Given the description of an element on the screen output the (x, y) to click on. 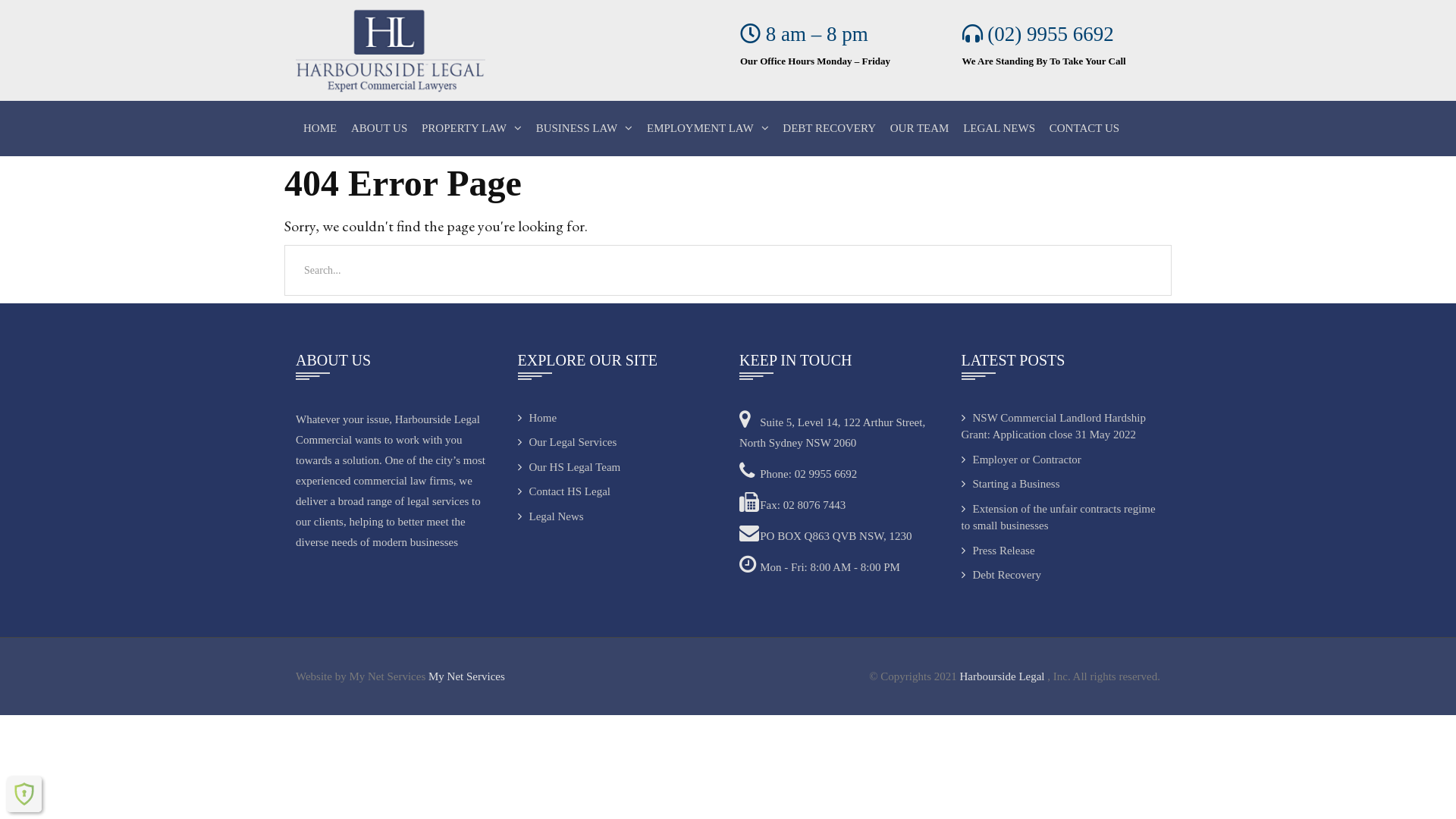
Search for: Element type: hover (727, 269)
HOME Element type: text (319, 128)
Legal News Element type: text (550, 515)
My Net Services Element type: text (466, 676)
CONTACT US Element type: text (1083, 128)
Home Element type: text (536, 417)
Harbourside Legal Element type: text (1003, 676)
ABOUT US Element type: text (378, 128)
Extension of the unfair contracts regime to small businesses Element type: text (1058, 516)
Debt Recovery Element type: text (1001, 574)
PROPERTY LAW Element type: text (471, 128)
Search Element type: text (36, 20)
DEBT RECOVERY Element type: text (829, 128)
BUSINESS LAW Element type: text (584, 128)
Employer or Contractor Element type: text (1021, 459)
LEGAL NEWS Element type: text (998, 128)
Shield Security Element type: hover (24, 793)
Our HS Legal Team Element type: text (568, 467)
OUR TEAM Element type: text (919, 128)
Our Legal Services Element type: text (566, 442)
Contact HS Legal Element type: text (563, 491)
Press Release Element type: text (998, 550)
Starting a Business Element type: text (1010, 483)
EMPLOYMENT LAW Element type: text (707, 128)
